Given the description of an element on the screen output the (x, y) to click on. 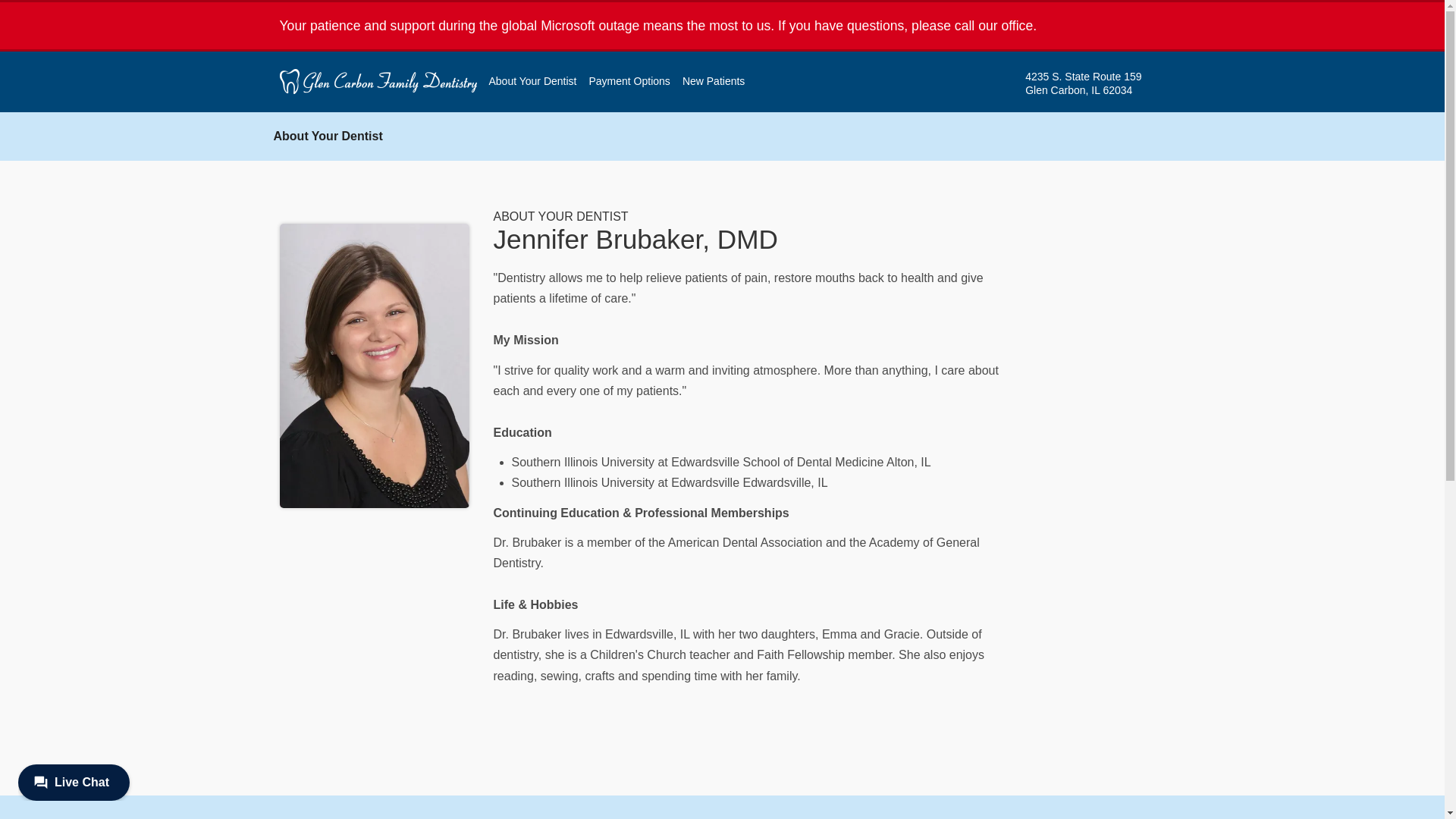
About Your Dentist (327, 135)
Payment Options (628, 81)
About Your Dentist (531, 81)
Jennifer Brubaker, DMD (635, 238)
New Patients (1094, 83)
